Given the description of an element on the screen output the (x, y) to click on. 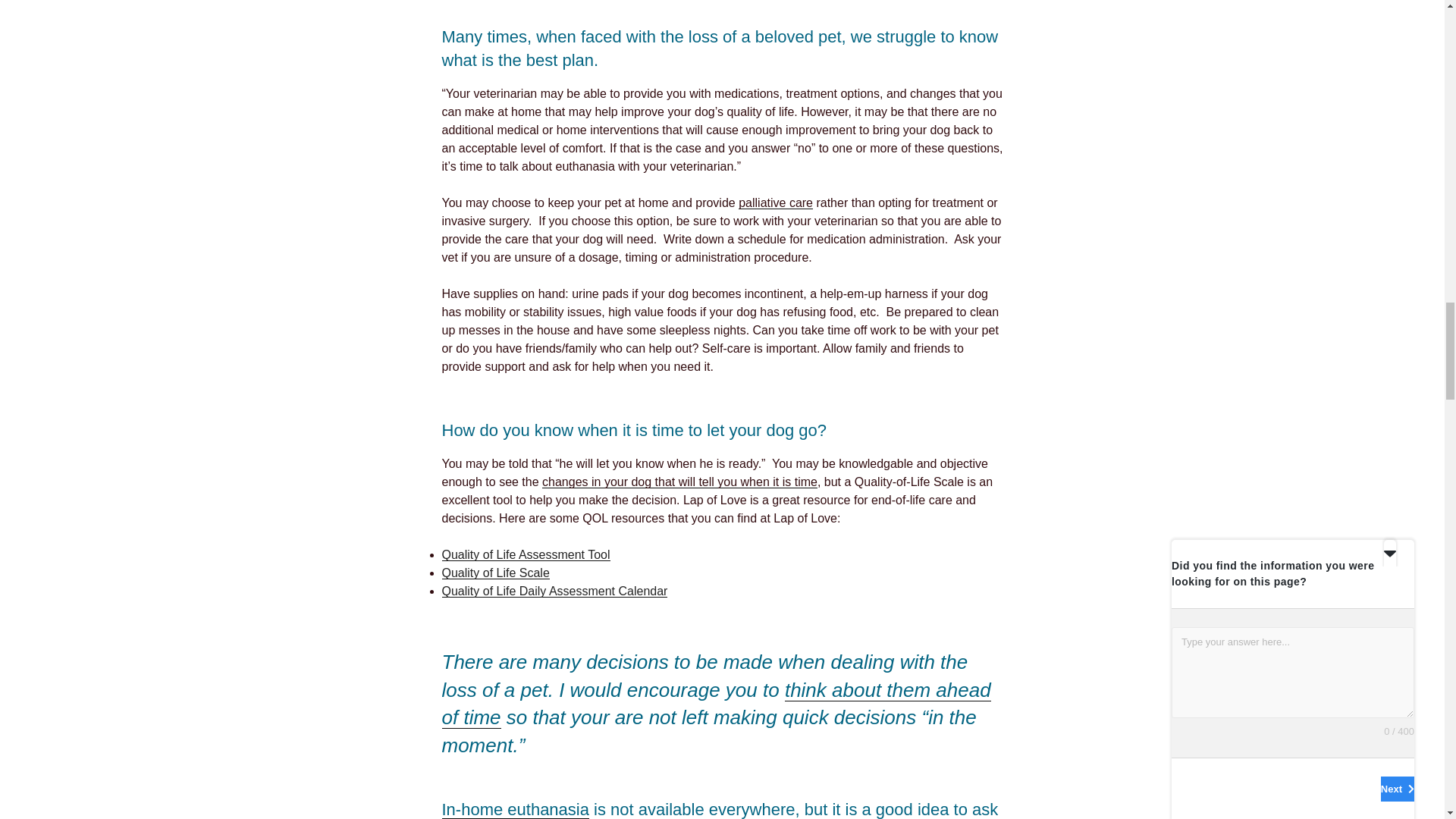
palliative care (775, 202)
changes in your dog that will tell you when it is time (678, 481)
